Given the description of an element on the screen output the (x, y) to click on. 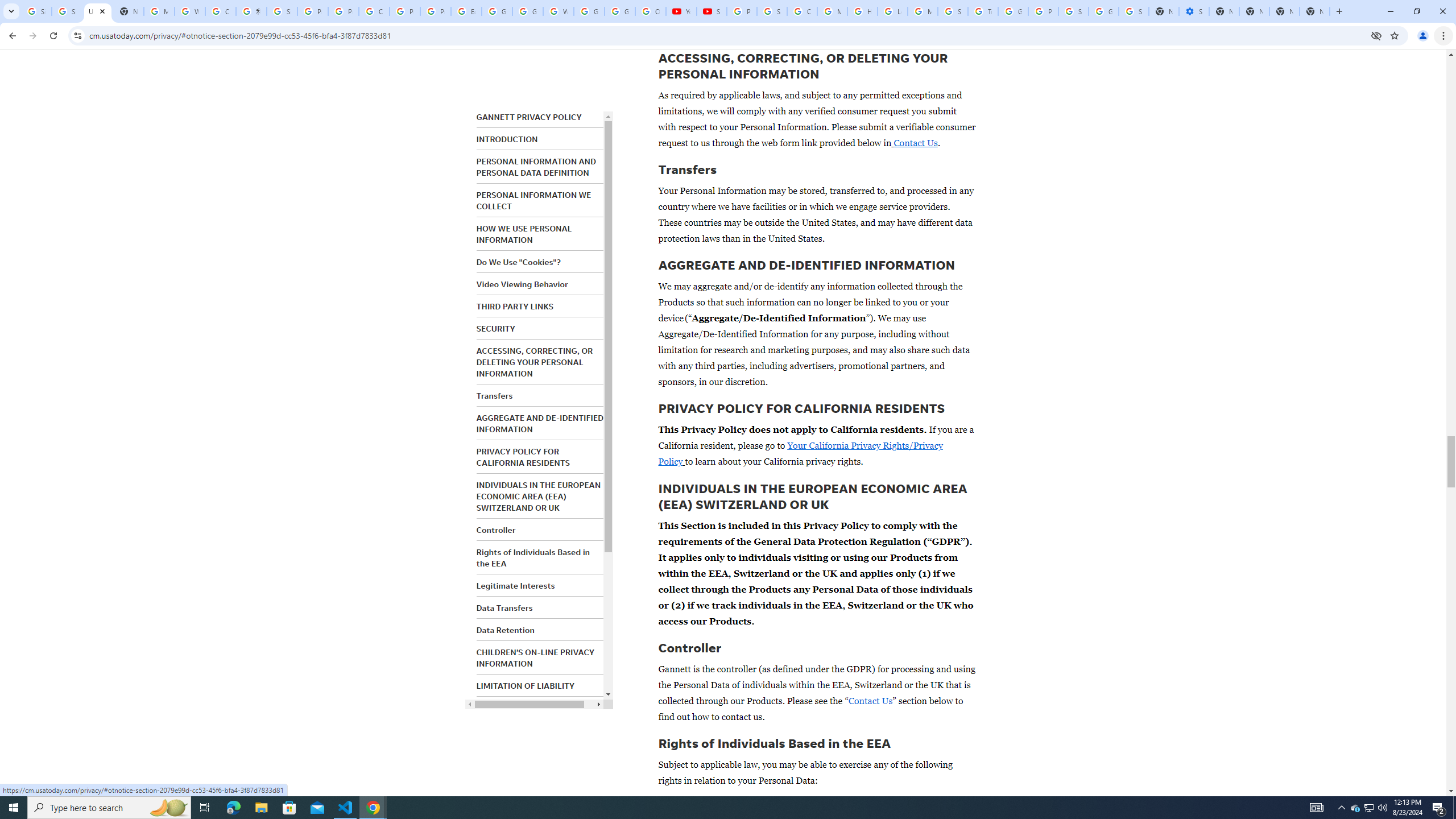
ACCESSING, CORRECTING, OR DELETING YOUR PERSONAL INFORMATION (534, 361)
Google Ads - Sign in (1012, 11)
Trusted Information and Content - Google Safety Center (982, 11)
YouTube (681, 11)
PERSONAL INFORMATION WE COLLECT (533, 200)
Rights of Individuals Based in the EEA (532, 557)
Who is my administrator? - Google Account Help (189, 11)
GANNETT PRIVACY POLICY (529, 117)
Transfers (494, 395)
USA TODAY (97, 11)
